Given the description of an element on the screen output the (x, y) to click on. 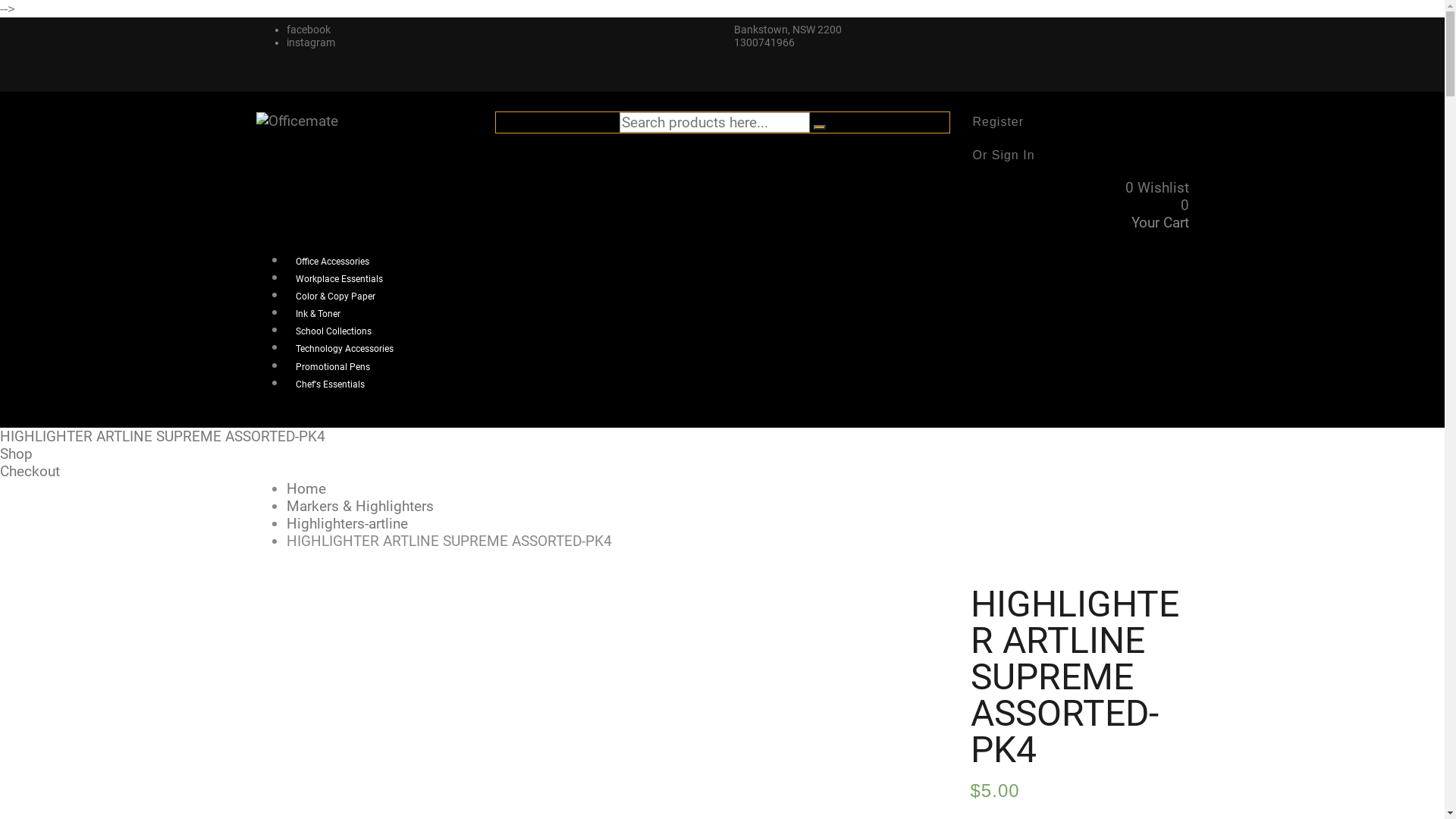
Bankstown, NSW 2200 Element type: text (787, 29)
facebook Element type: text (308, 29)
Promotional Pens Element type: text (332, 365)
instagram Element type: text (310, 42)
Chef's Essentials Element type: text (329, 384)
HIGHLIGHTER ARTLINE SUPREME ASSORTED-PK4 Element type: text (162, 436)
Markers & Highlighters Element type: text (359, 505)
Workplace Essentials Element type: text (338, 278)
School Collections Element type: text (333, 331)
Highlighters-artline Element type: text (346, 523)
Color & Copy Paper Element type: text (335, 296)
1300741966 Element type: text (764, 42)
Shop Element type: text (16, 453)
0 Element type: text (1183, 204)
Home Element type: text (306, 488)
Office Accessories Element type: text (332, 261)
Ink & Toner Element type: text (317, 313)
Checkout Element type: text (29, 471)
Technology Accessories Element type: text (344, 348)
0 Wishlist Element type: text (1157, 187)
1417-O2408 Element type: hover (365, 695)
Register
Or Sign In Element type: text (1080, 139)
